Given the description of an element on the screen output the (x, y) to click on. 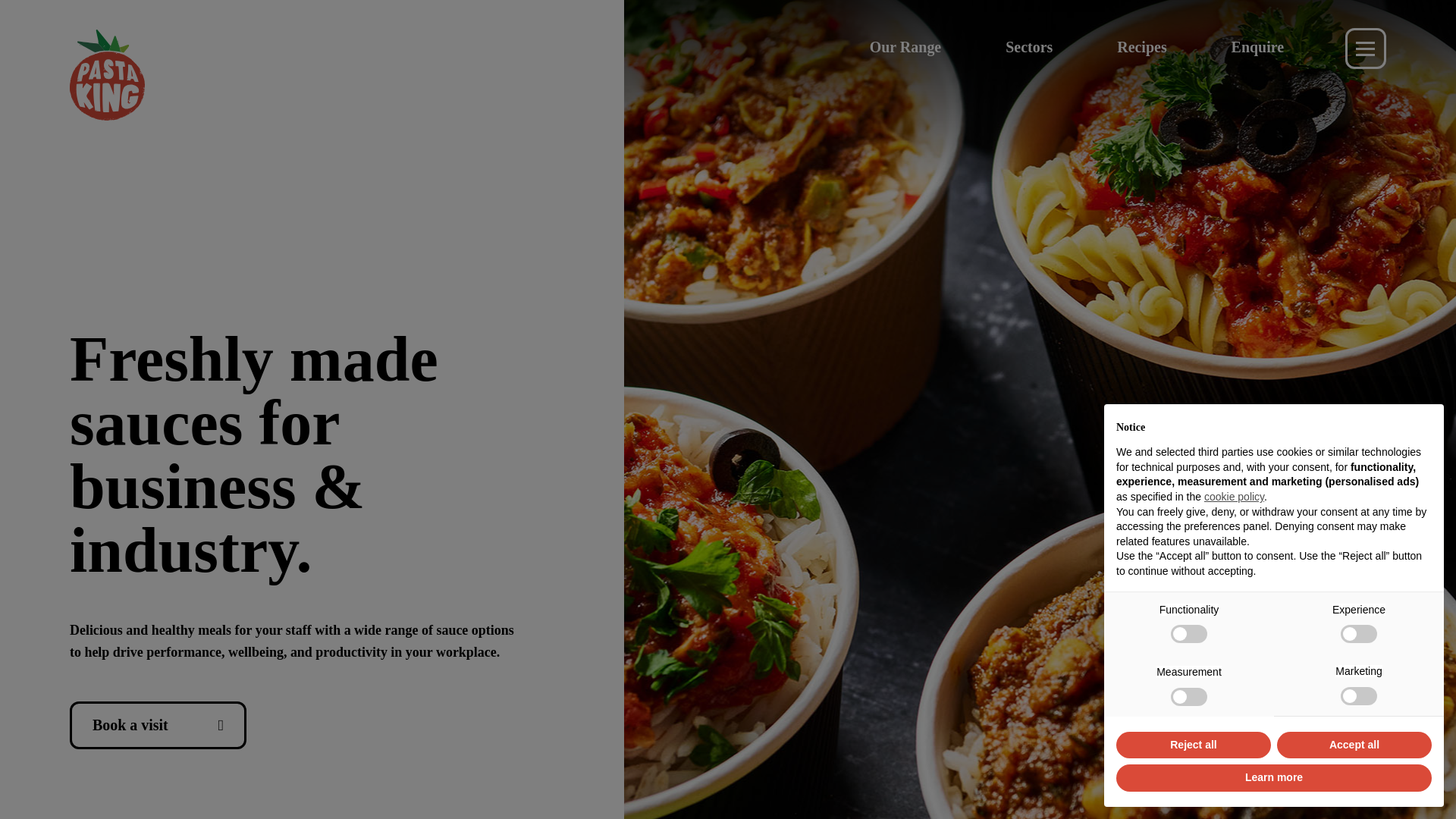
false (1188, 696)
false (1358, 633)
false (1358, 696)
Enquire (1257, 47)
false (1188, 633)
Recipes (1141, 47)
Sectors (1029, 47)
Book a visit (157, 725)
Our Range (905, 47)
